Given the description of an element on the screen output the (x, y) to click on. 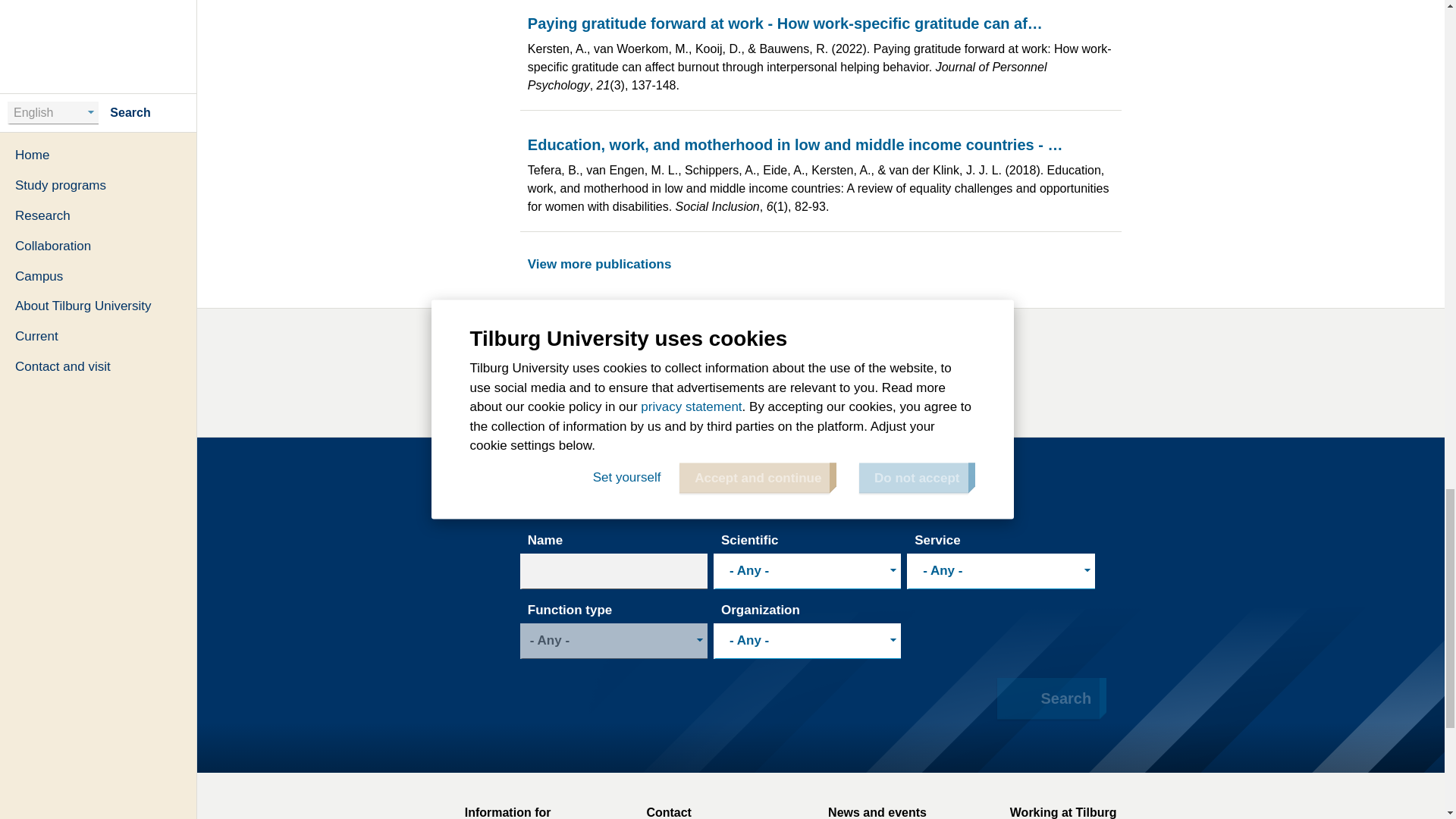
View more publications (604, 264)
Side activities (751, 392)
- Any - (997, 570)
- Any - (804, 570)
Link academic profile (598, 392)
Contact (729, 811)
Search (1048, 698)
- Any - (804, 640)
